Given the description of an element on the screen output the (x, y) to click on. 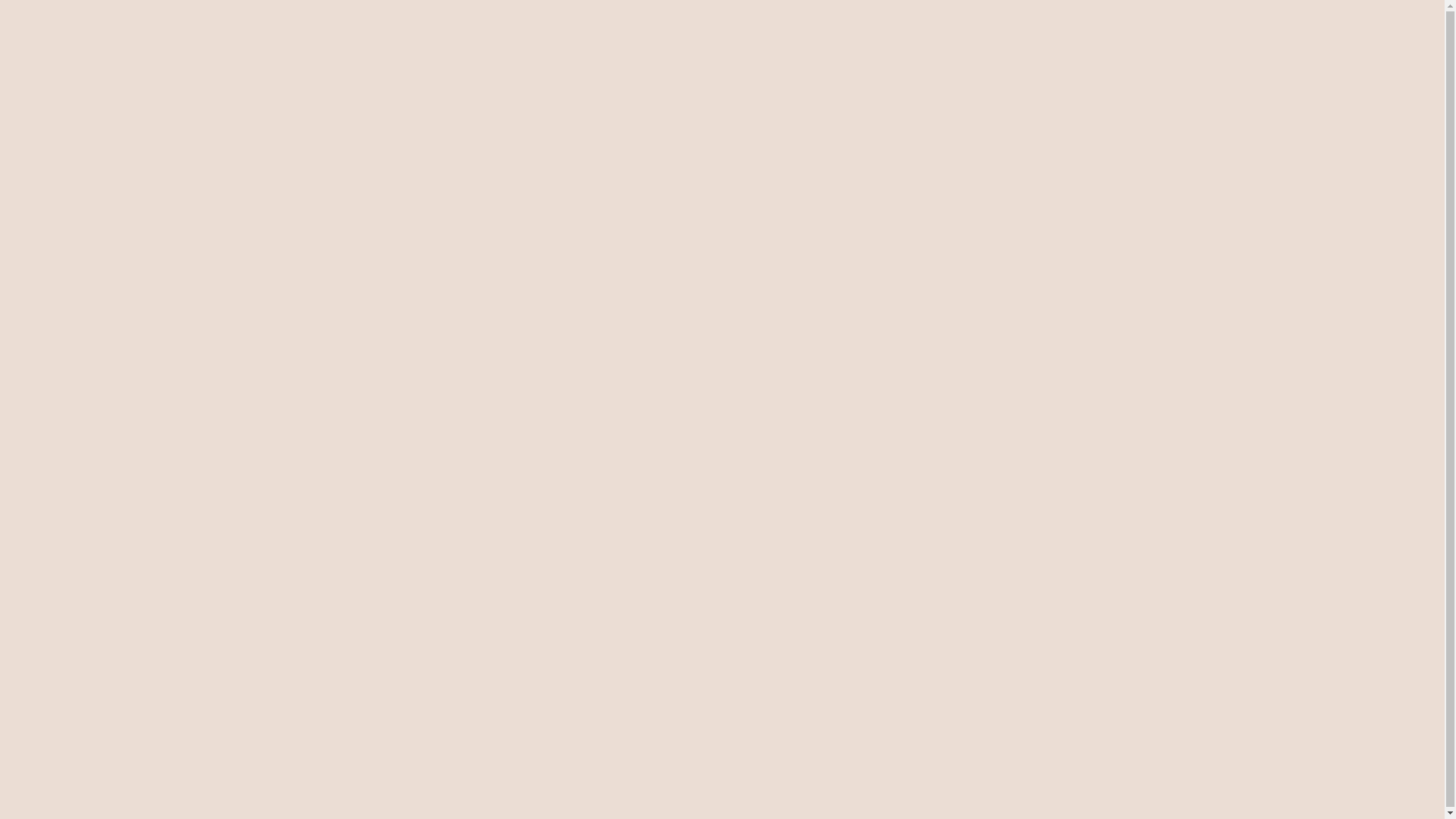
HOME Element type: text (89, 57)
TEAM Element type: text (364, 57)
LIFESTYLE Element type: text (233, 57)
VIEW OTHER PROJECTS BY LANDMARK Element type: text (722, 13)
RESIDENCES Element type: text (155, 57)
LOCATION Element type: text (304, 57)
ENQUIRE Element type: text (1322, 56)
